Given the description of an element on the screen output the (x, y) to click on. 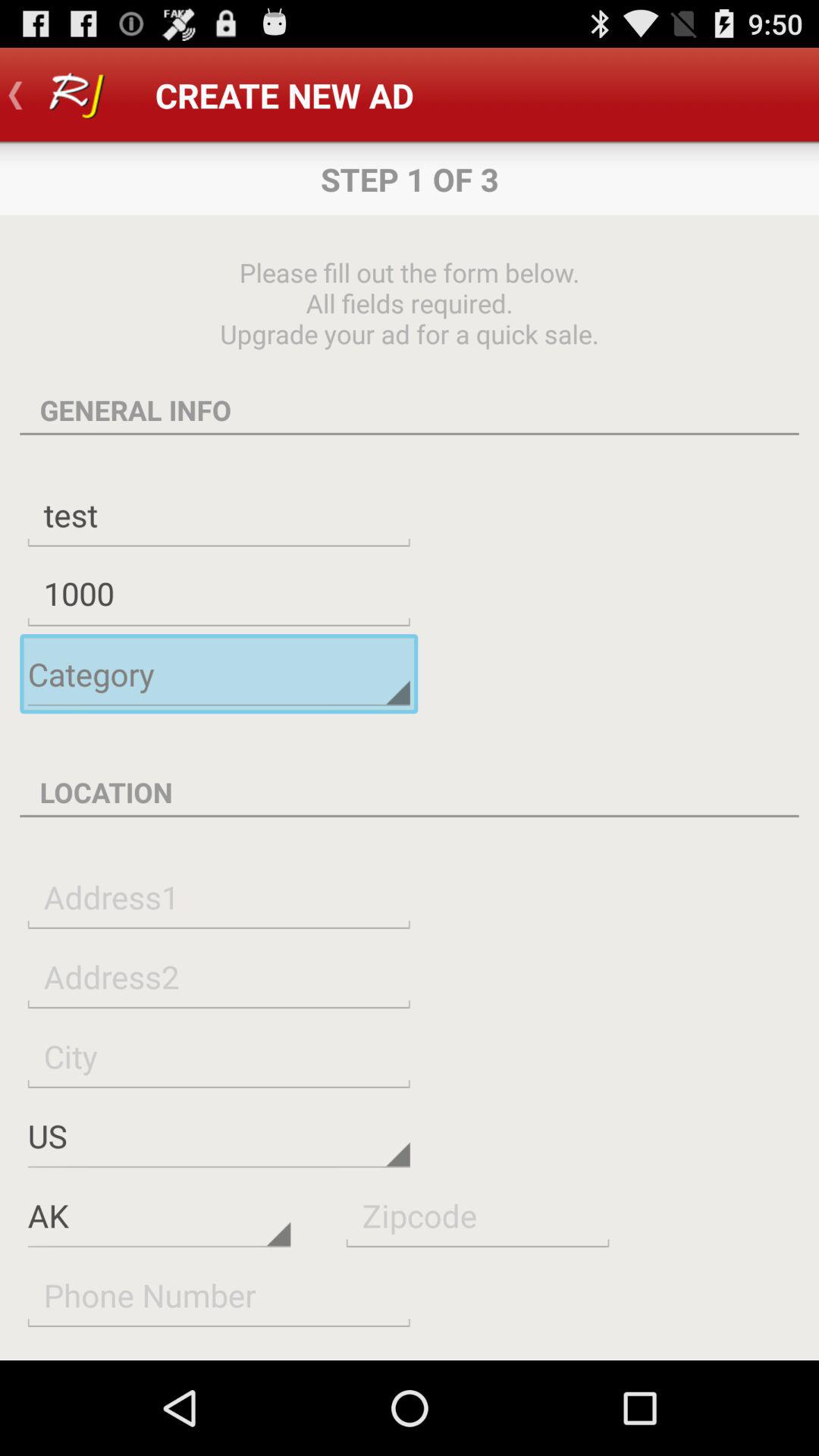
street address line two (218, 976)
